Given the description of an element on the screen output the (x, y) to click on. 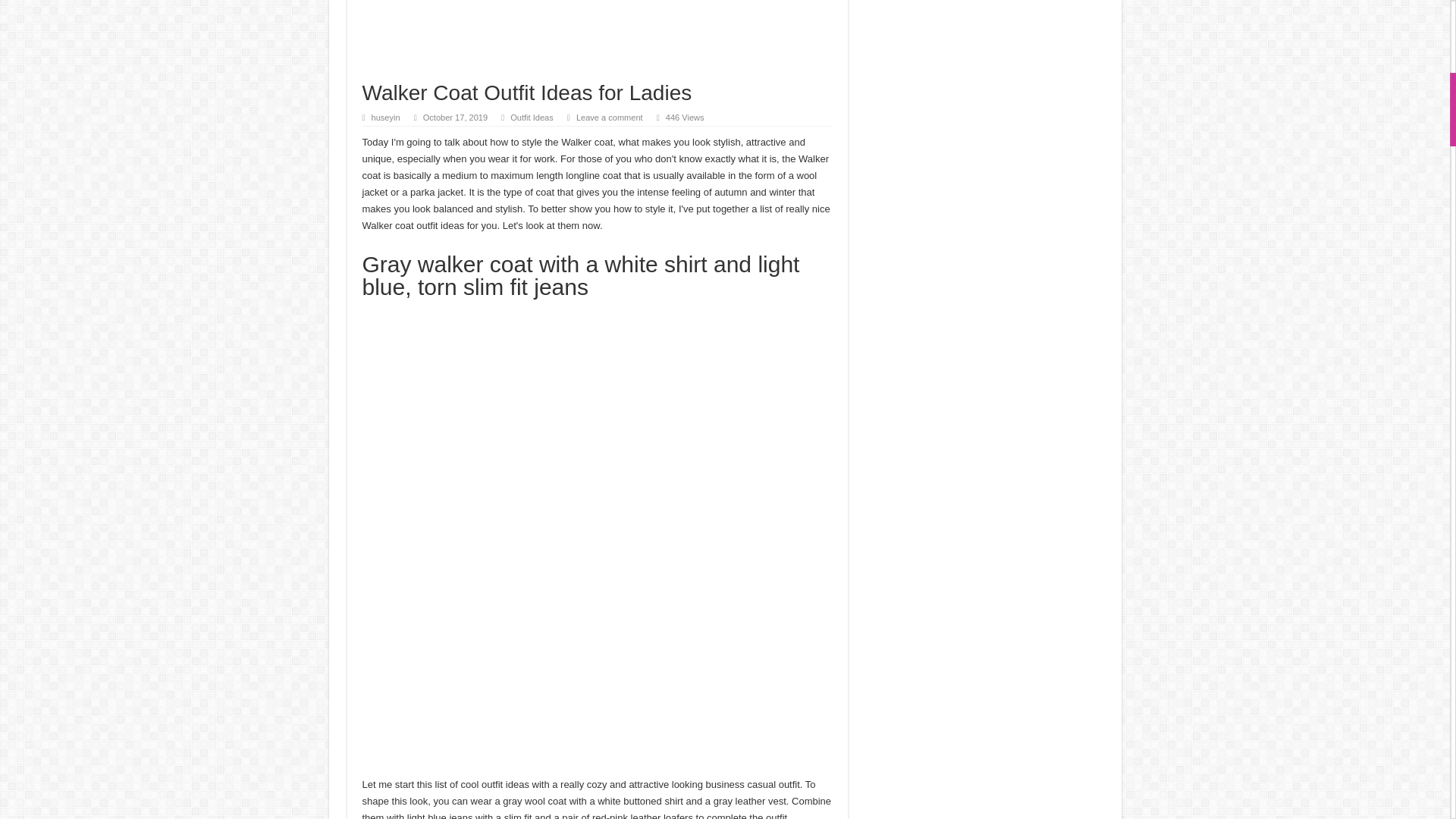
Outfit Ideas (532, 117)
Leave a comment (609, 117)
huseyin (385, 117)
